Given the description of an element on the screen output the (x, y) to click on. 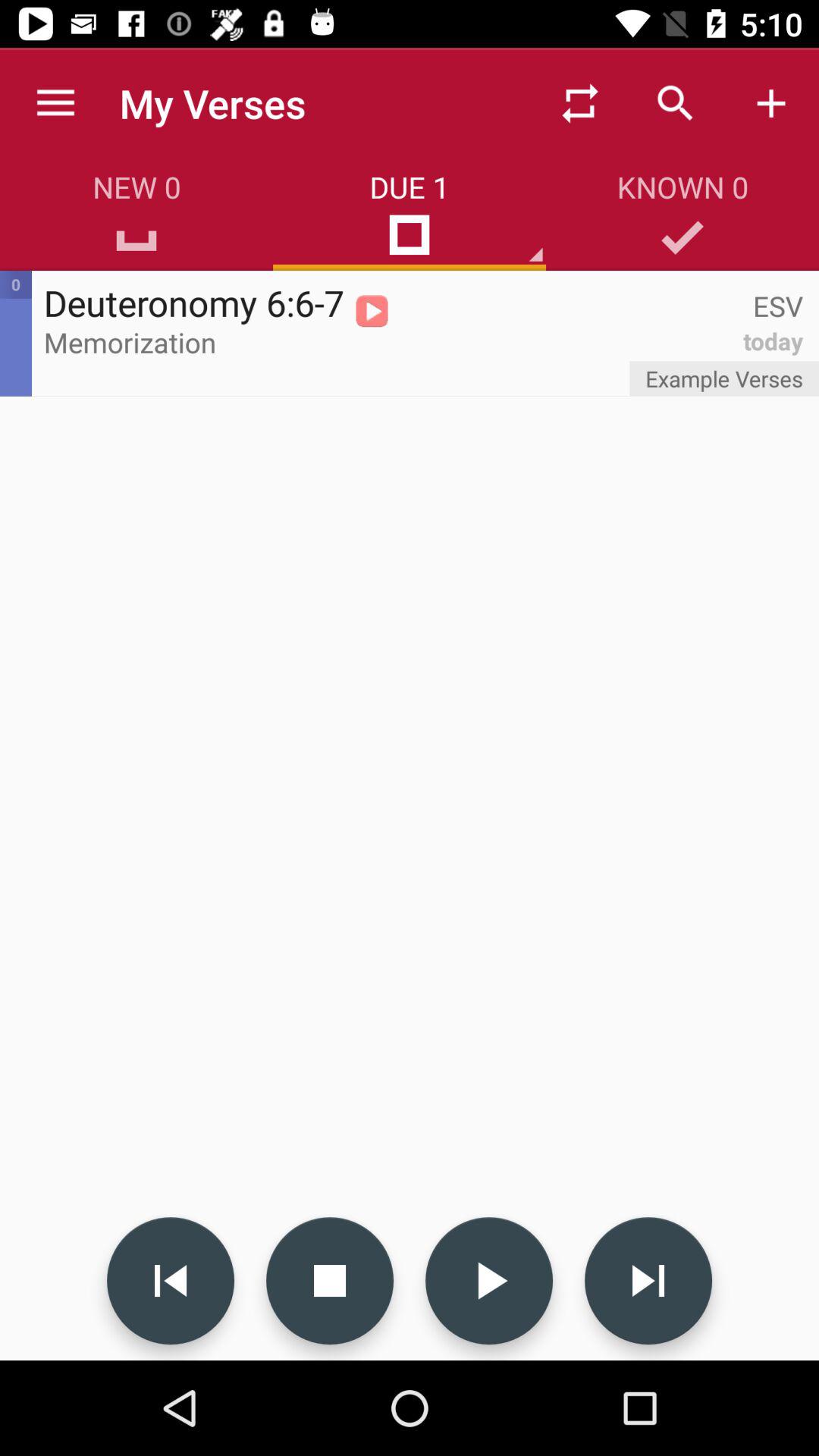
in the left corner there will be an arrow icon to the left (170, 1280)
